Given the description of an element on the screen output the (x, y) to click on. 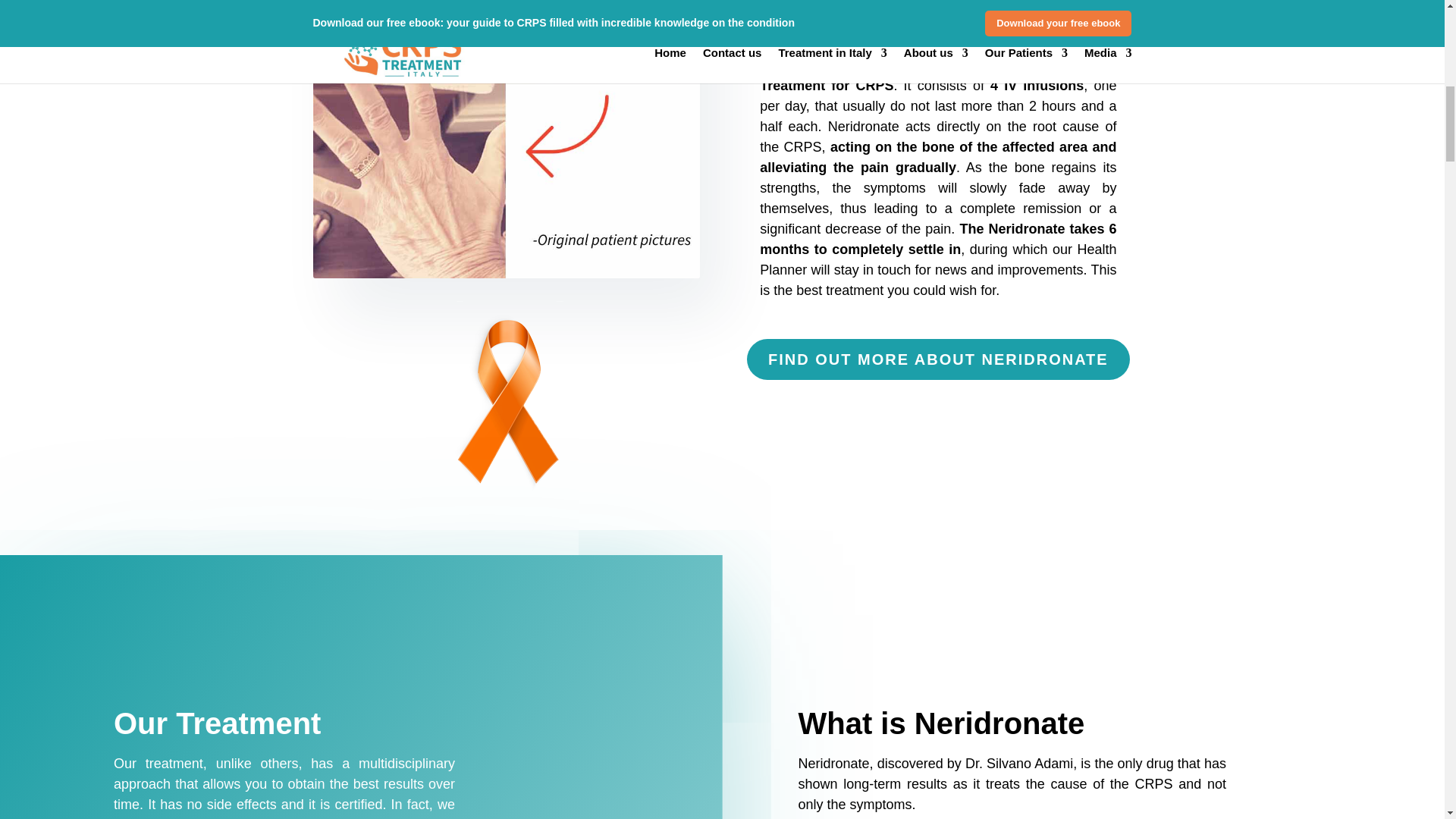
FIND OUT MORE ABOUT NERIDRONATE (937, 359)
Original-patient-pictures (505, 139)
crps-logo (505, 397)
